Given the description of an element on the screen output the (x, y) to click on. 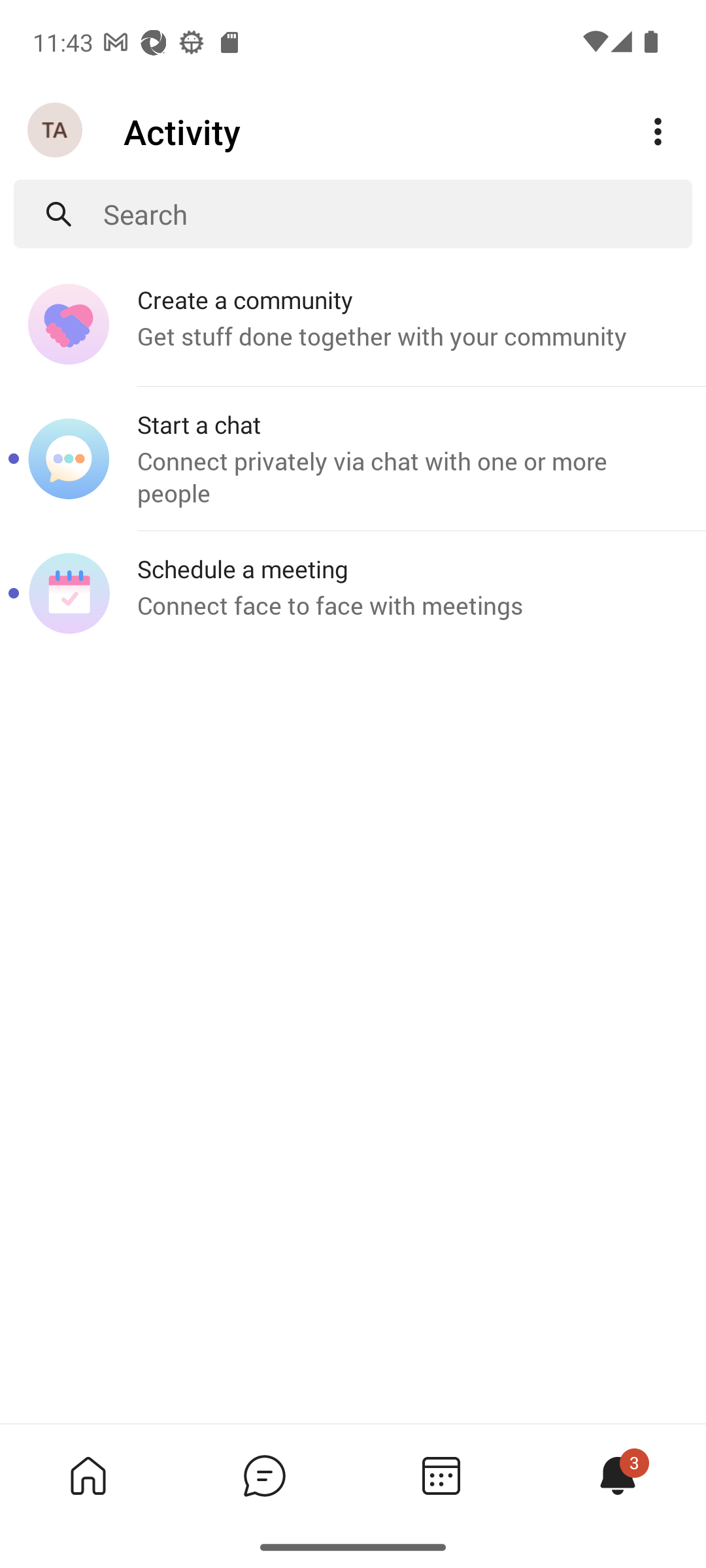
More options (657, 131)
Navigation (56, 130)
Search (397, 213)
Home tab,1 of 4, not selected (88, 1475)
Chat tab,2 of 4, not selected (264, 1475)
Calendar tab,3 of 4, not selected (441, 1475)
Activity tab, 4 of 4, 3 new 3 (617, 1475)
